Given the description of an element on the screen output the (x, y) to click on. 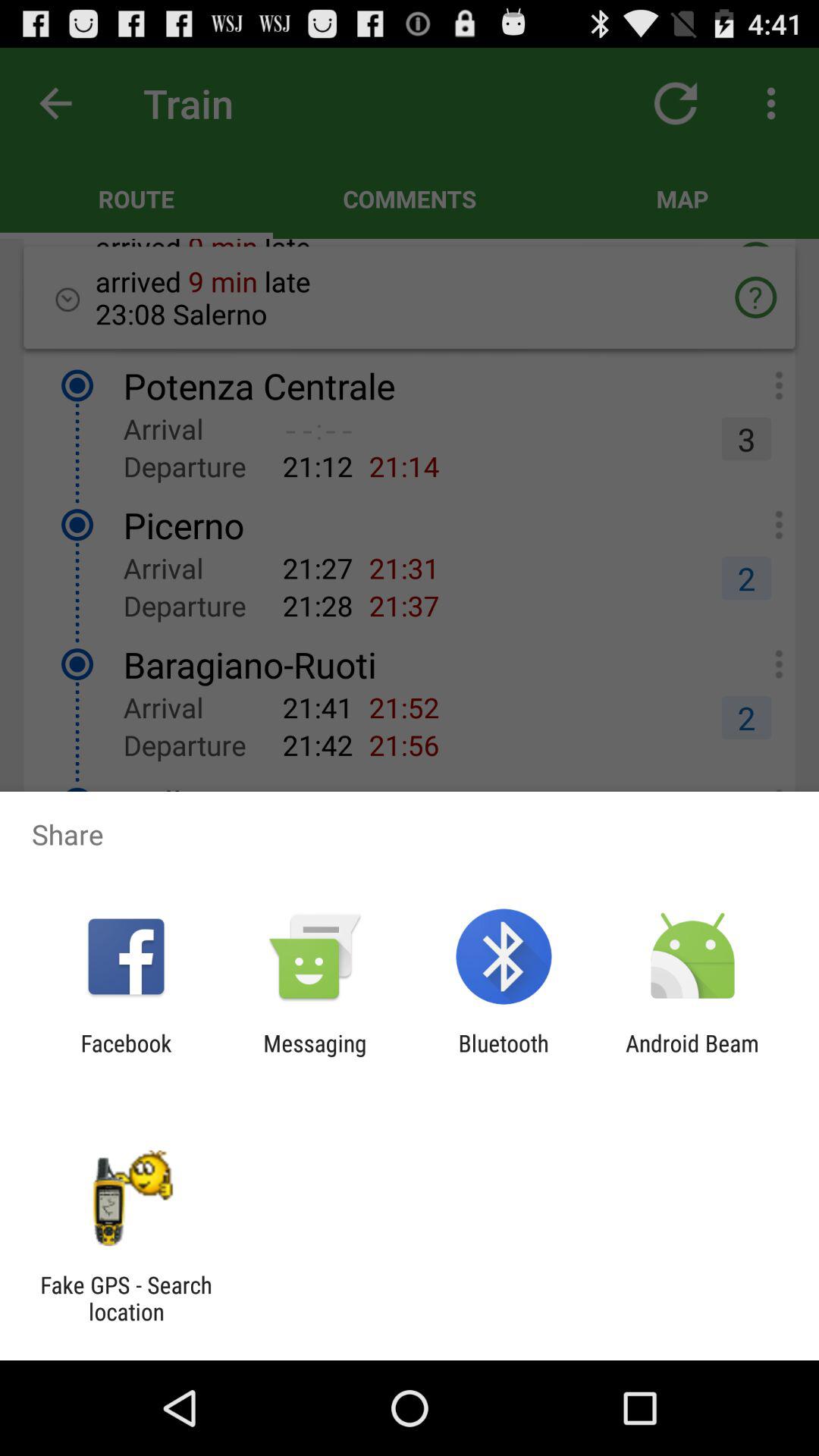
scroll to the android beam item (692, 1056)
